Given the description of an element on the screen output the (x, y) to click on. 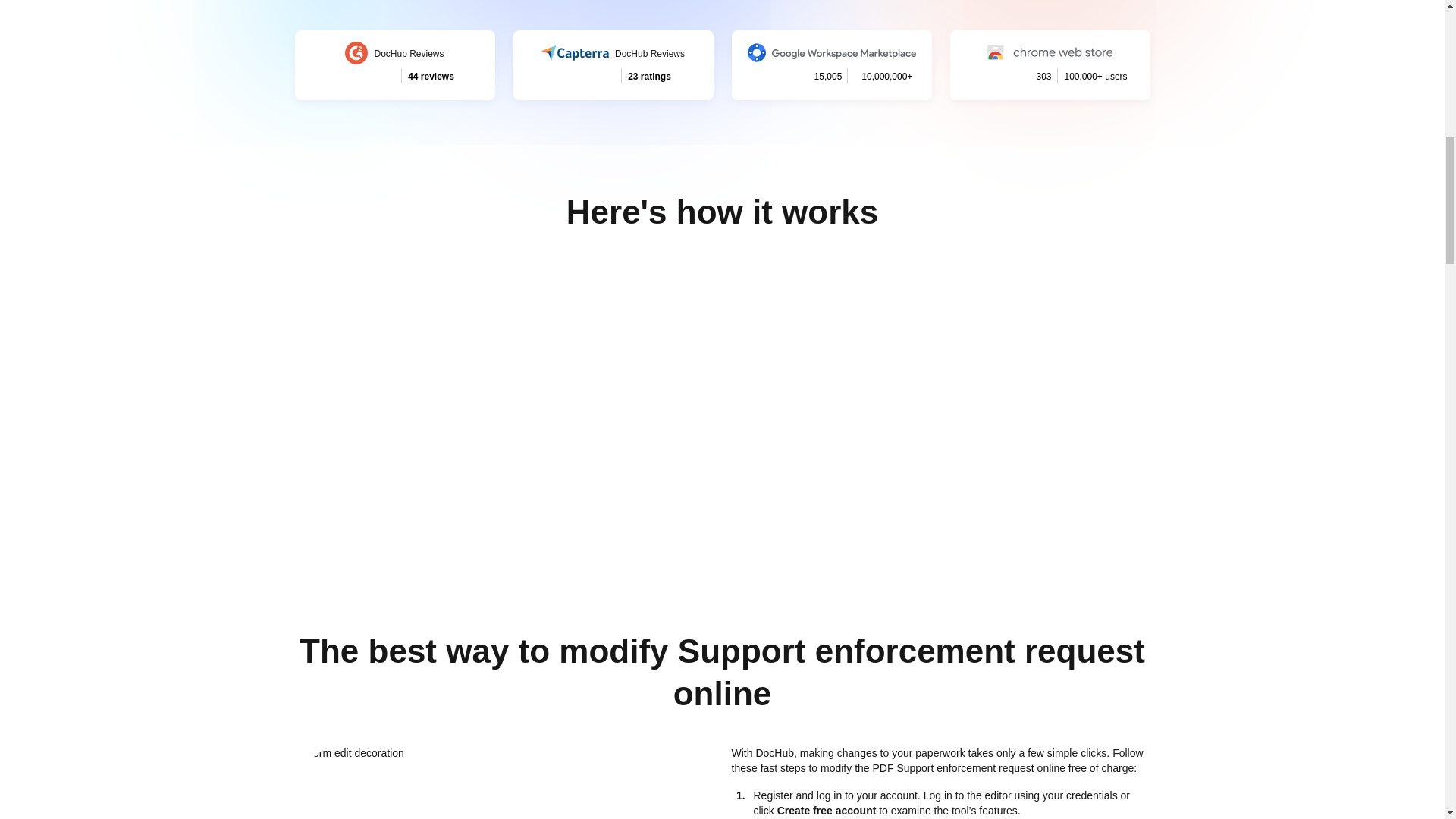
Start now (612, 64)
